Given the description of an element on the screen output the (x, y) to click on. 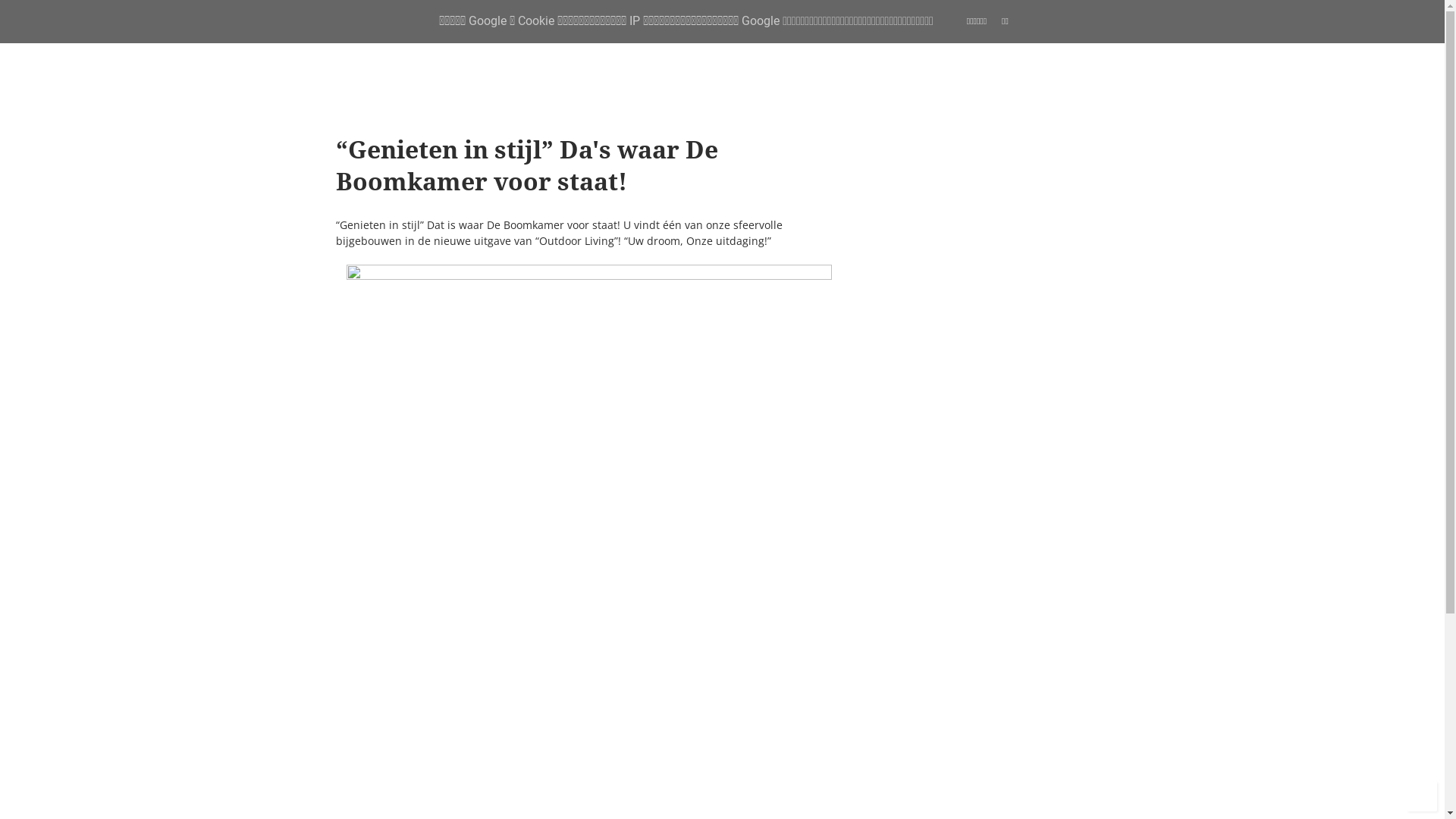
Inschrijven Element type: text (891, 396)
